Given the description of an element on the screen output the (x, y) to click on. 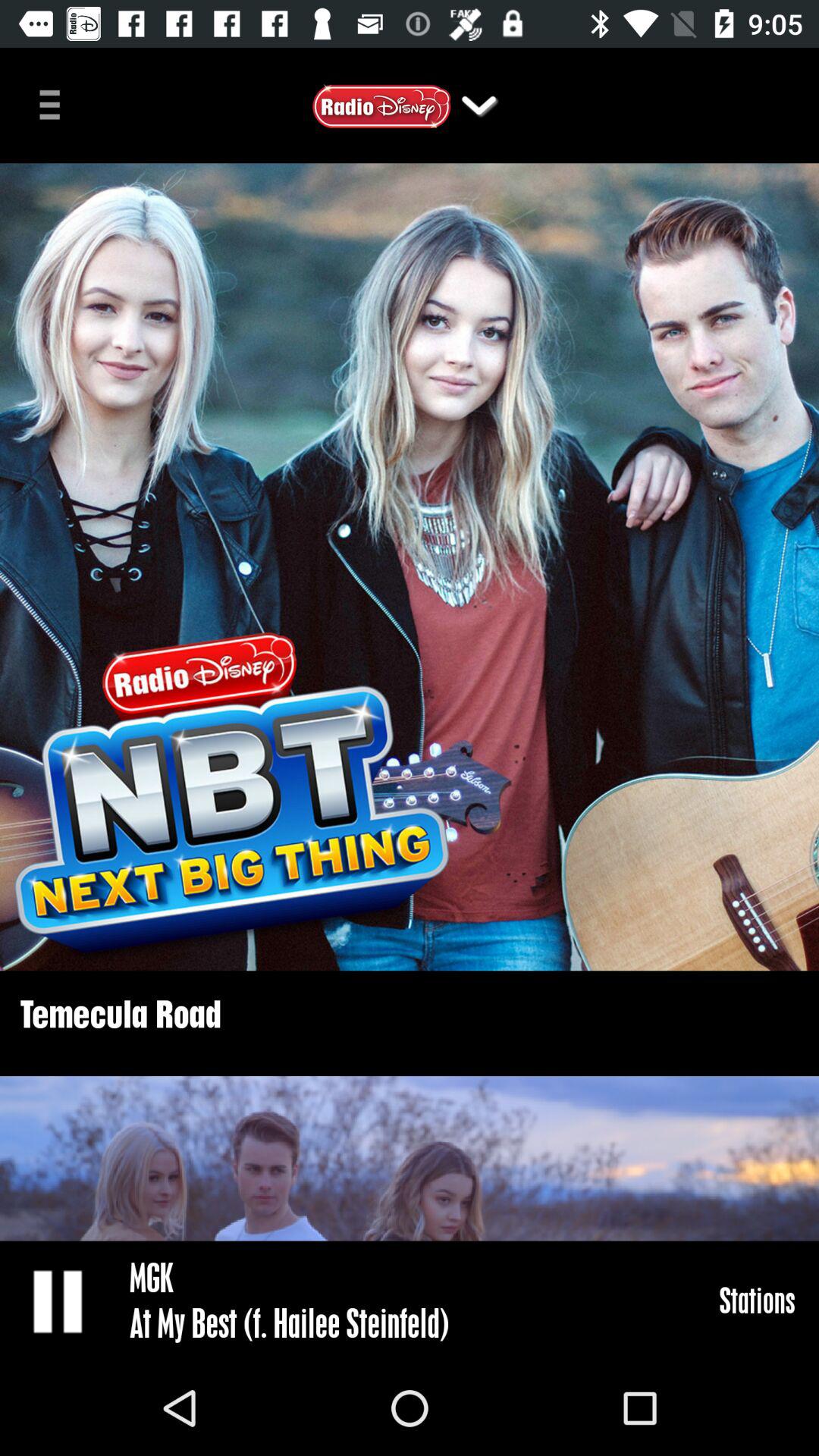
open the stations at the bottom right corner (757, 1300)
